Given the description of an element on the screen output the (x, y) to click on. 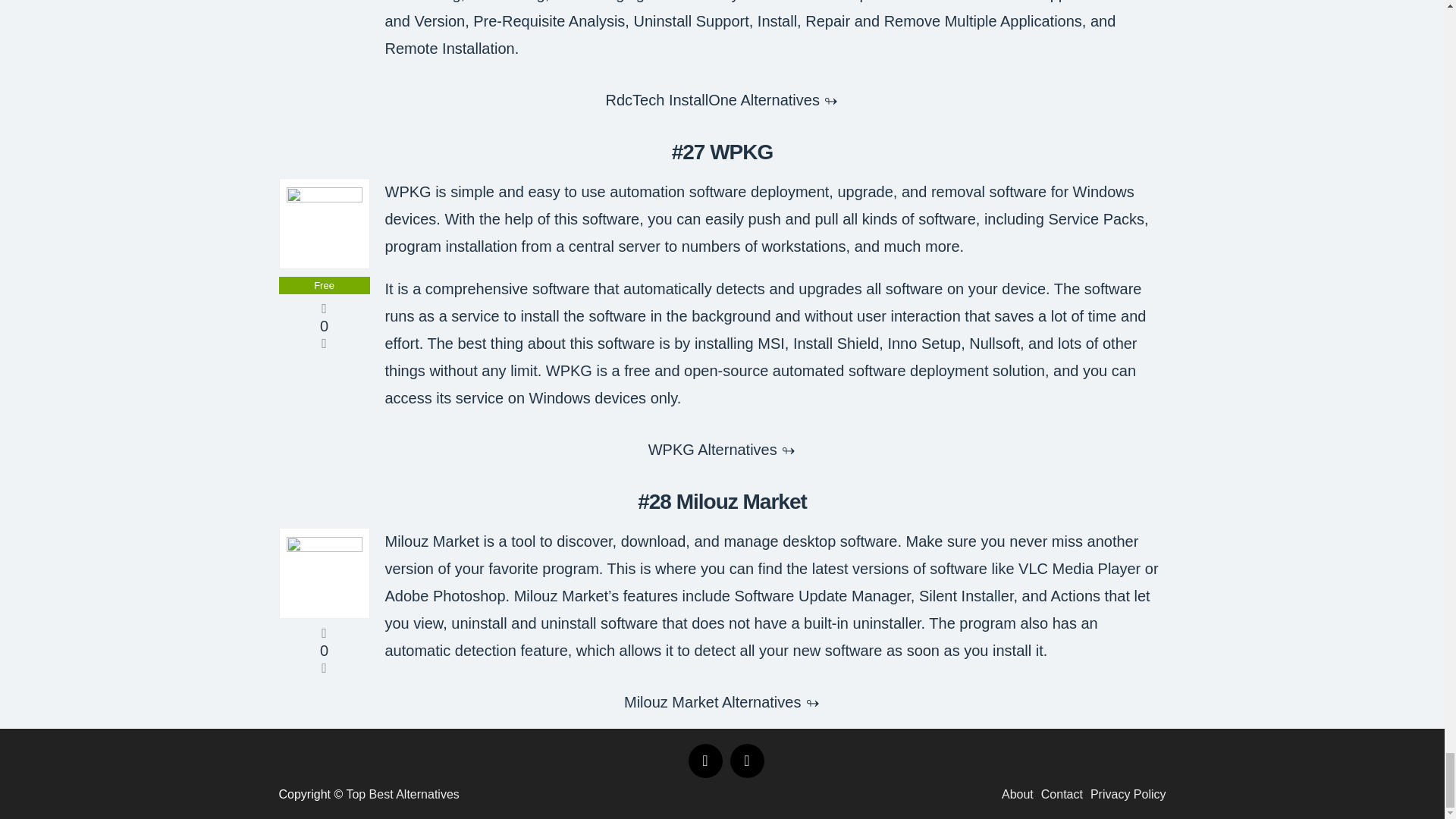
Twitter (745, 760)
Facebook (705, 760)
